Given the description of an element on the screen output the (x, y) to click on. 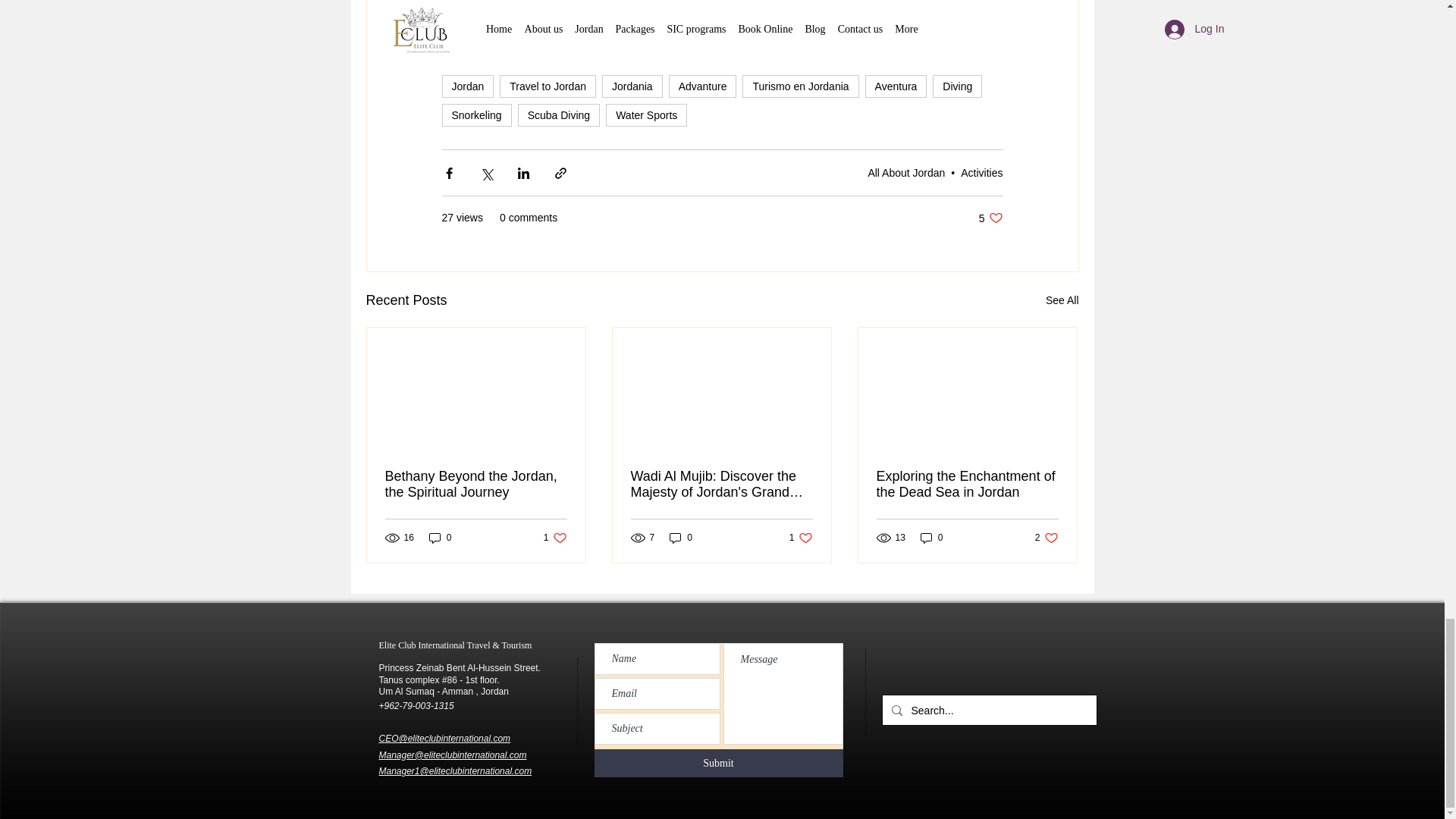
Scuba Diving (558, 115)
Diving (957, 86)
Jordania (632, 86)
Jordan (467, 86)
Water Sports (646, 115)
Travel to Jordan (547, 86)
Aventura (895, 86)
Advanture (702, 86)
Turismo en Jordania (800, 86)
Snorkeling (476, 115)
